Given the description of an element on the screen output the (x, y) to click on. 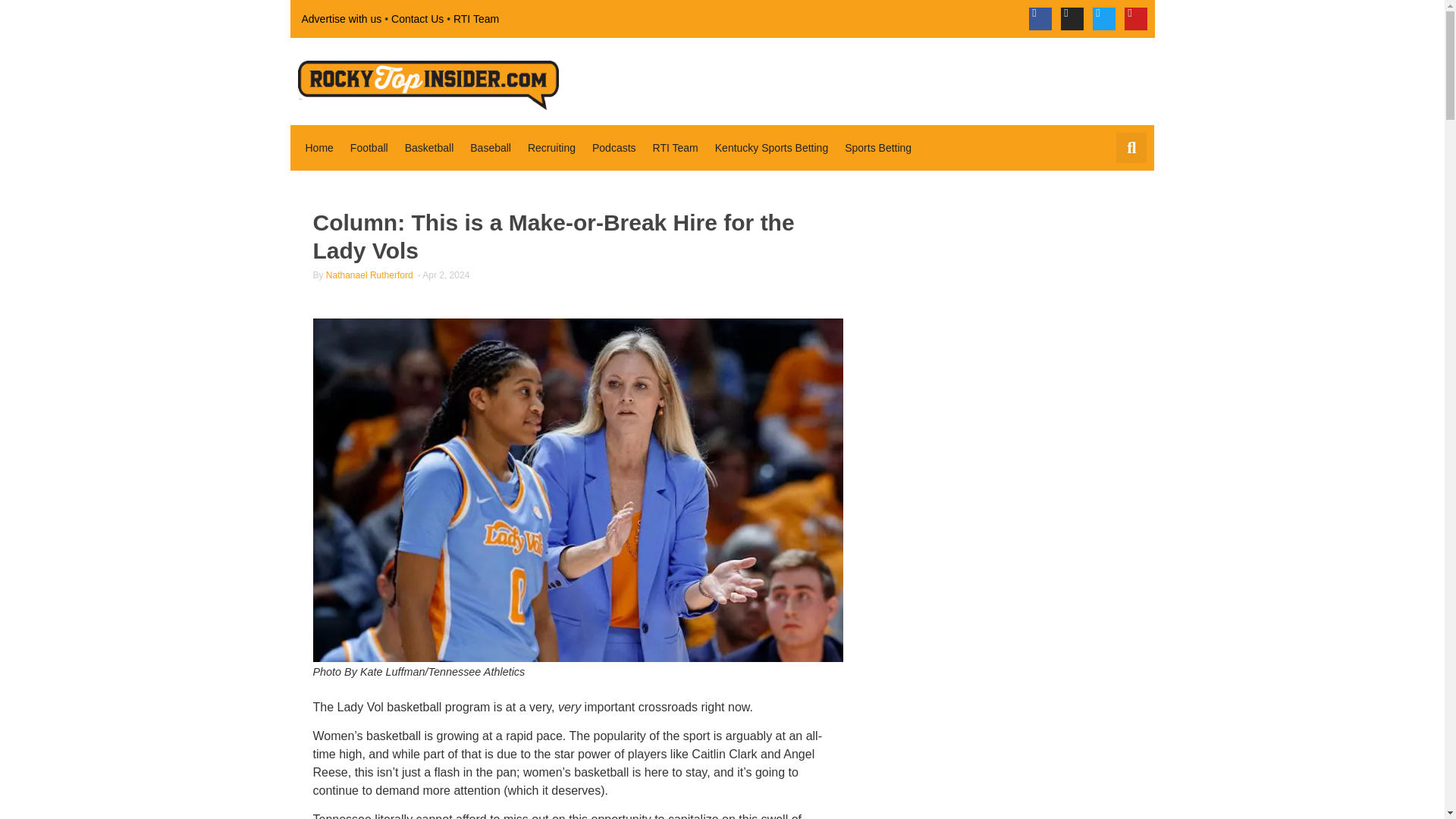
Basketball (429, 147)
Podcasts (614, 147)
RTI Team (675, 147)
Kentucky Sports Betting (771, 147)
Advertise with us (341, 18)
RTI Team (475, 18)
Baseball (490, 147)
Recruiting (551, 147)
Sports Betting (877, 147)
Contact Us (417, 18)
